Given the description of an element on the screen output the (x, y) to click on. 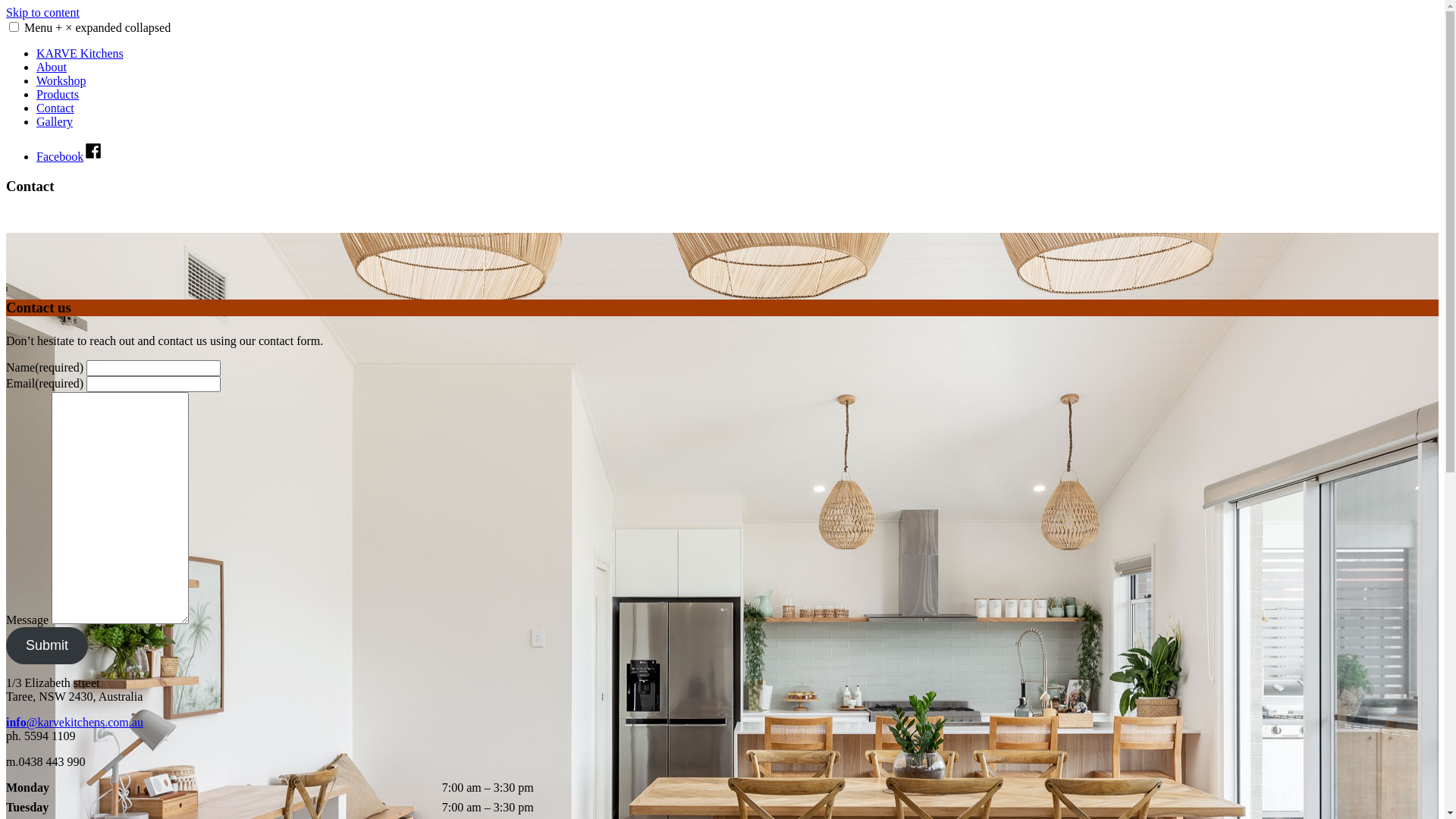
Contact Element type: text (55, 107)
Workshop Element type: text (60, 80)
Gallery Element type: text (54, 121)
About Element type: text (51, 66)
Submit Element type: text (46, 645)
info@karvekitchens.com.au Element type: text (74, 721)
Products Element type: text (57, 93)
KARVE Kitchens Element type: text (79, 53)
Facebook Element type: text (69, 156)
Skip to content Element type: text (42, 12)
